Given the description of an element on the screen output the (x, y) to click on. 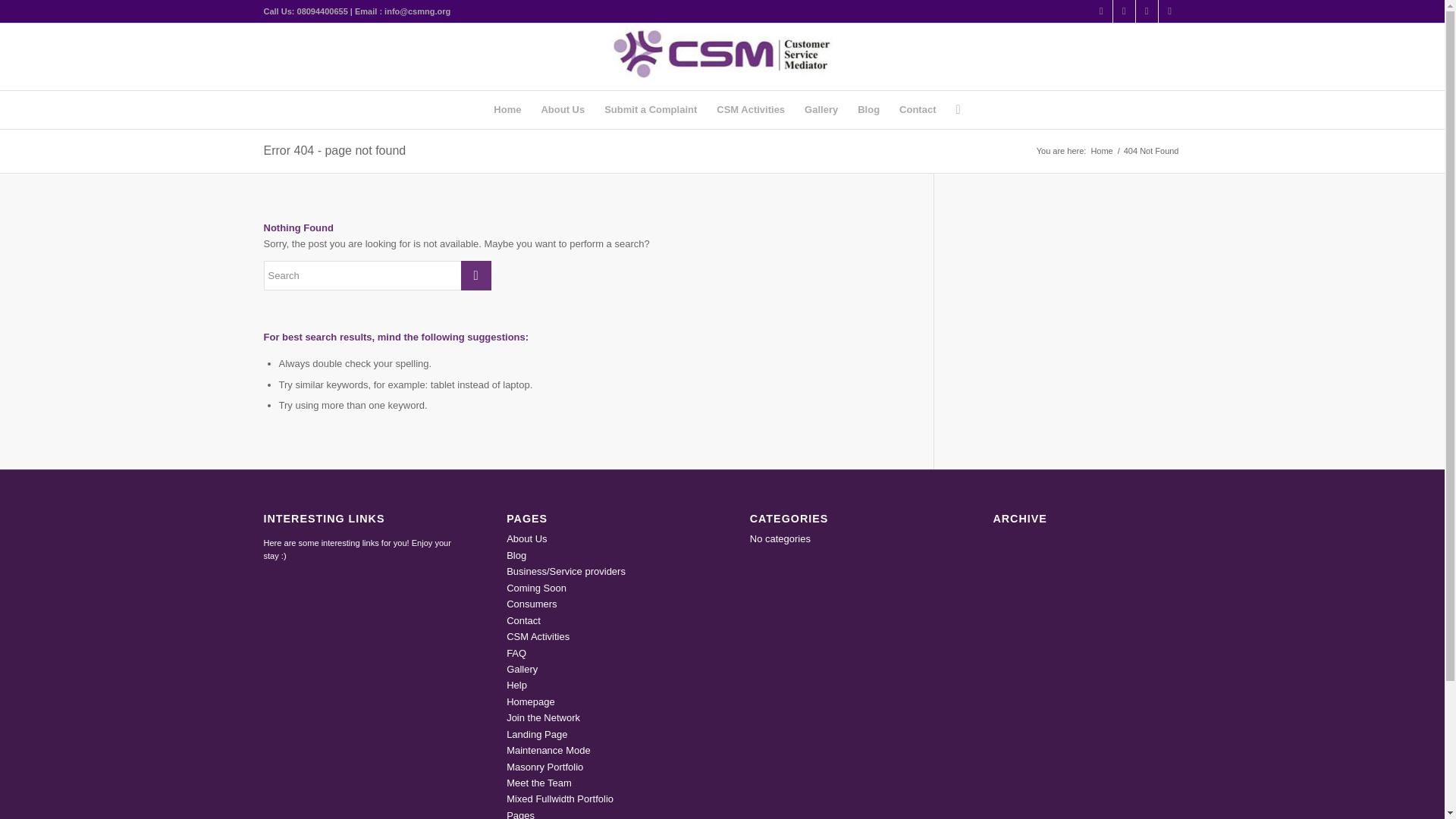
Landing Page (536, 734)
Gallery (521, 668)
CSM Activities (537, 636)
Facebook (1169, 11)
Gallery (820, 109)
Join the Network (542, 717)
Submit a Complaint (650, 109)
Instagram (1146, 11)
Coming Soon (536, 587)
Contact (916, 109)
